Given the description of an element on the screen output the (x, y) to click on. 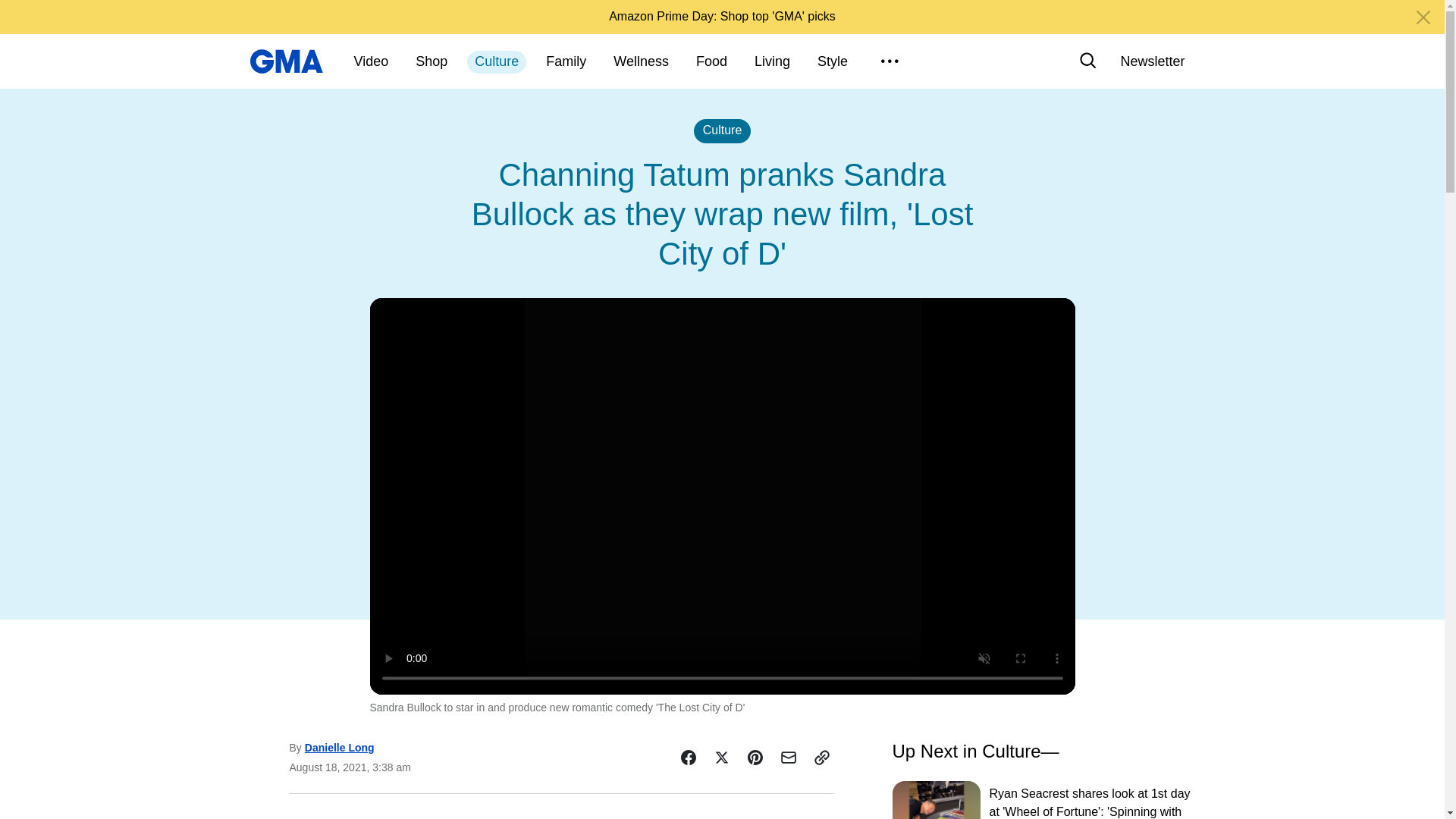
Newsletter (1152, 61)
Danielle Long (339, 747)
Style (832, 61)
Shop (430, 61)
Living (771, 61)
Family (566, 61)
Culture (722, 130)
Food (711, 61)
Amazon Prime Day: Shop top 'GMA' picks (721, 15)
Wellness (641, 61)
Culture (496, 61)
Video (371, 61)
Search (1087, 60)
